Given the description of an element on the screen output the (x, y) to click on. 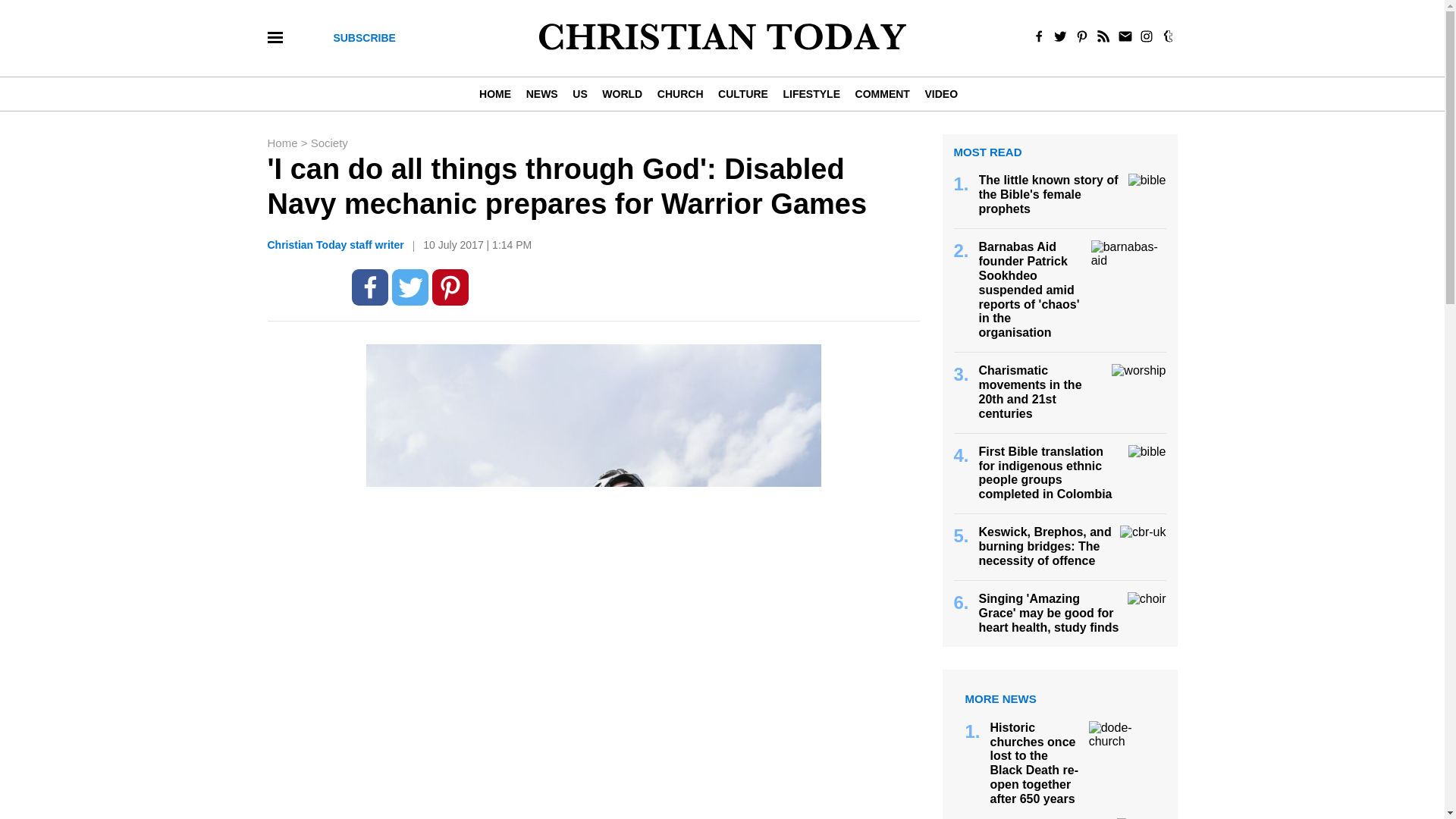
CHURCH (679, 93)
CULTURE (742, 93)
COMMENT (882, 93)
Home (282, 142)
SUBSCRIBE (363, 37)
WORLD (622, 93)
HOME (498, 93)
LIFESTYLE (811, 93)
VIDEO (941, 93)
